Given the description of an element on the screen output the (x, y) to click on. 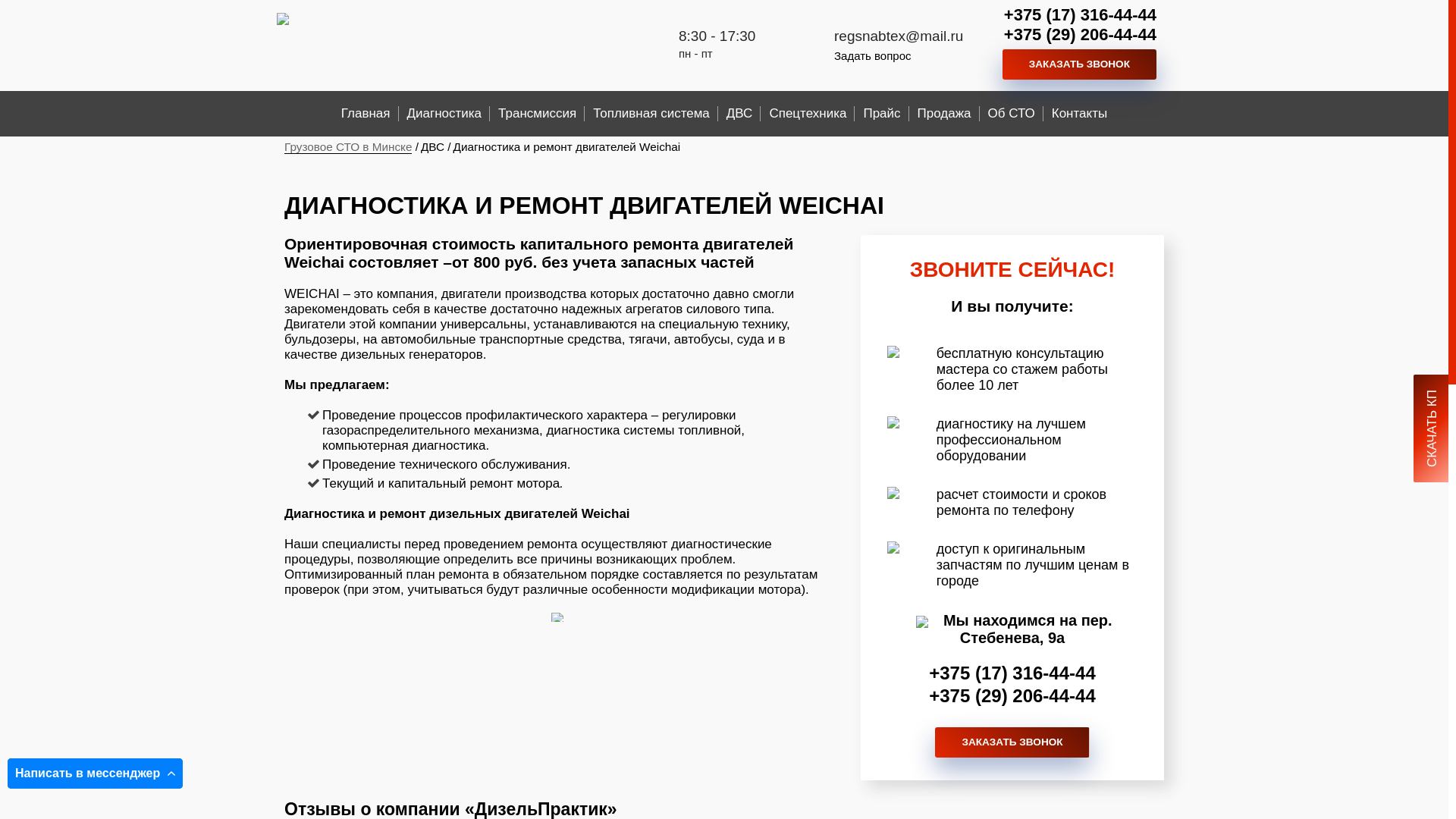
+375 (17) 316-44-44 Element type: text (1011, 672)
+375 (29) 206-44-44 Element type: text (1079, 34)
+375 (29) 206-44-44 Element type: text (1011, 695)
+375 (17) 316-44-44 Element type: text (1079, 15)
/stories/logo.svg Element type: hover (374, 19)
regsnabtex@mail.ru Element type: text (898, 35)
